Given the description of an element on the screen output the (x, y) to click on. 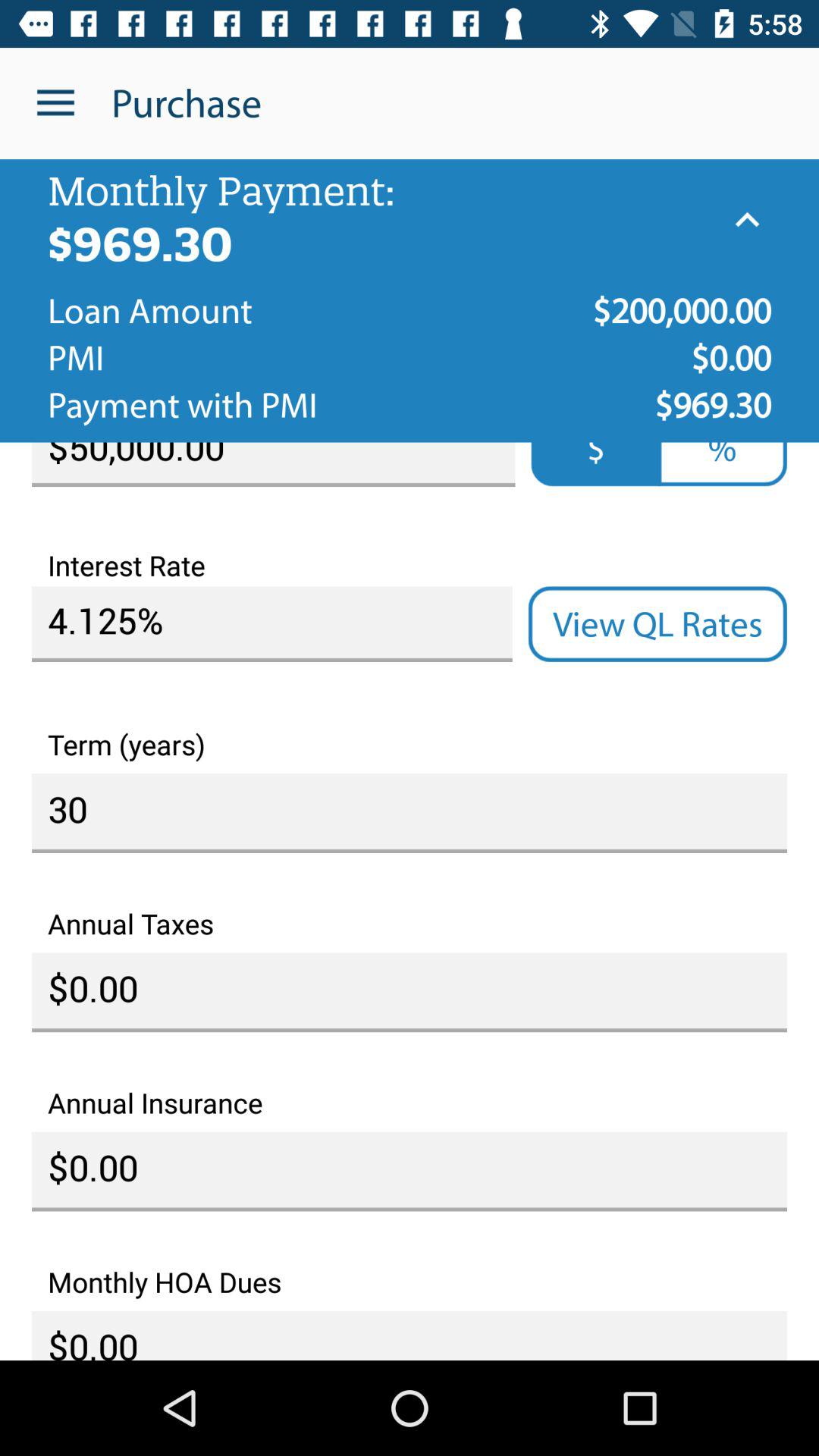
press 4.125% icon (271, 624)
